Given the description of an element on the screen output the (x, y) to click on. 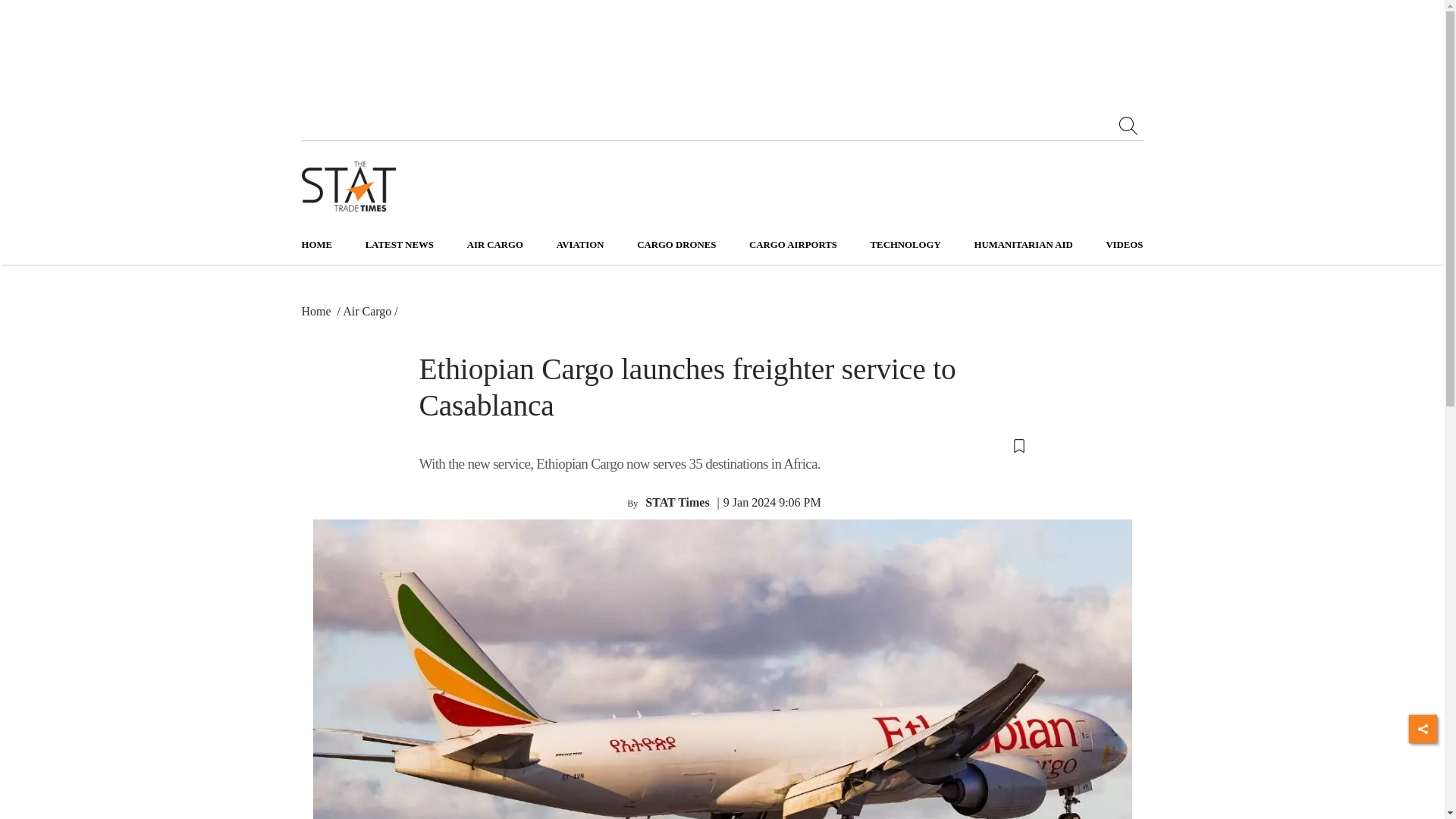
The STAT Trade Times (348, 186)
AIR CARGO (494, 245)
HUMANITARIAN AID (1022, 245)
VIDEOS (1123, 245)
CARGO AIRPORTS (793, 245)
TECHNOLOGY (905, 245)
CARGO DRONES (676, 245)
HOME (317, 245)
LATEST NEWS (399, 245)
AVIATION (580, 245)
